Given the description of an element on the screen output the (x, y) to click on. 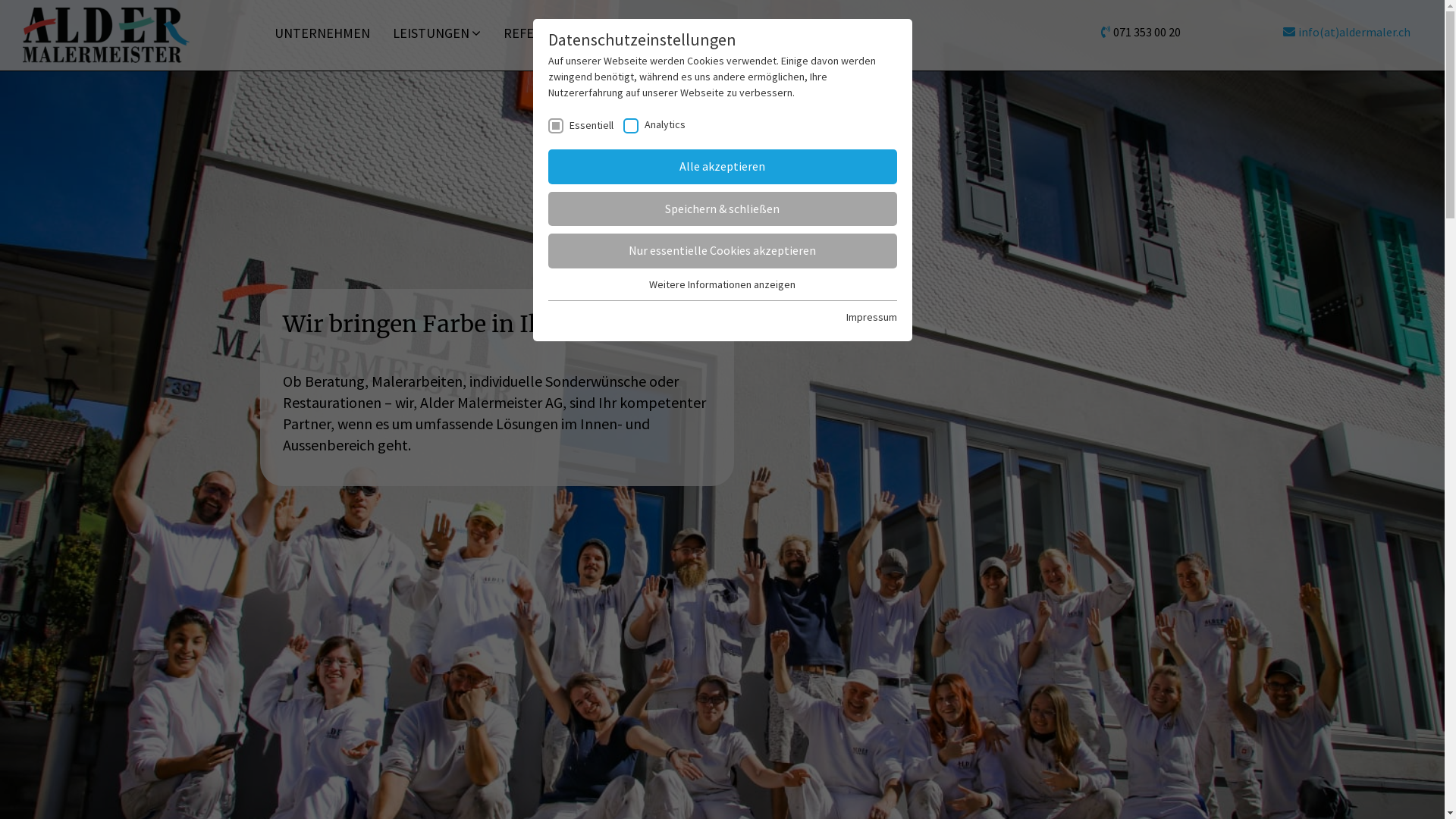
Nur essentielle Cookies akzeptieren Element type: text (721, 250)
AGB Element type: text (807, 33)
info(at)aldermaler.ch Element type: text (1354, 31)
Alle akzeptieren Element type: text (721, 166)
KONTAKT Element type: text (743, 33)
REFERENZEN Element type: text (543, 33)
Weitere Informationen anzeigen Element type: text (722, 284)
LEISTUNGEN Element type: text (436, 33)
AUSSTELLUNG Element type: text (648, 33)
Impressum Element type: text (871, 316)
UNTERNEHMEN Element type: text (322, 33)
